Given the description of an element on the screen output the (x, y) to click on. 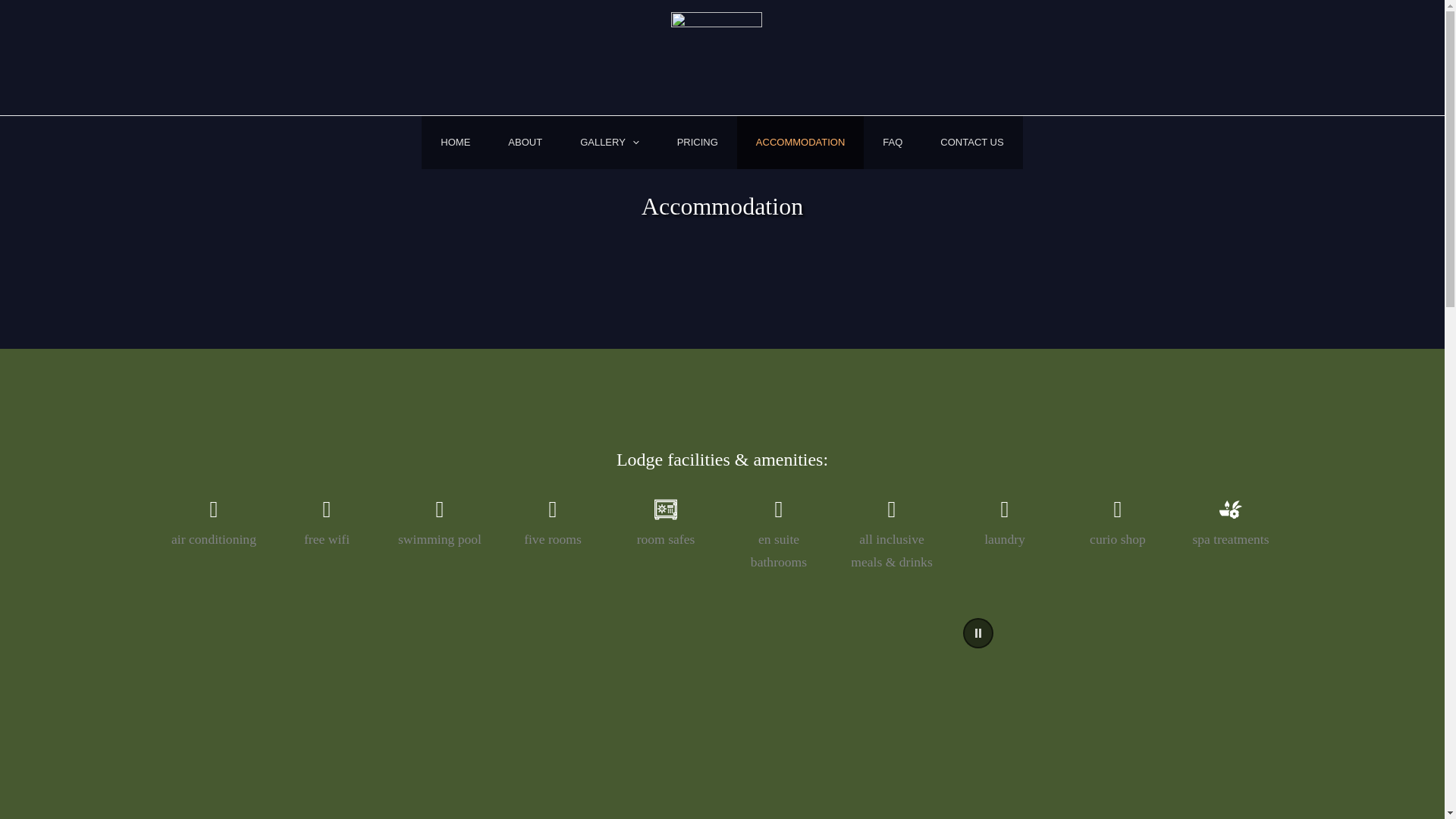
FAQ (892, 142)
HOME (455, 142)
ACCOMMODATION (799, 142)
GALLERY (609, 142)
ABOUT (524, 142)
PRICING (697, 142)
CONTACT US (971, 142)
